Given the description of an element on the screen output the (x, y) to click on. 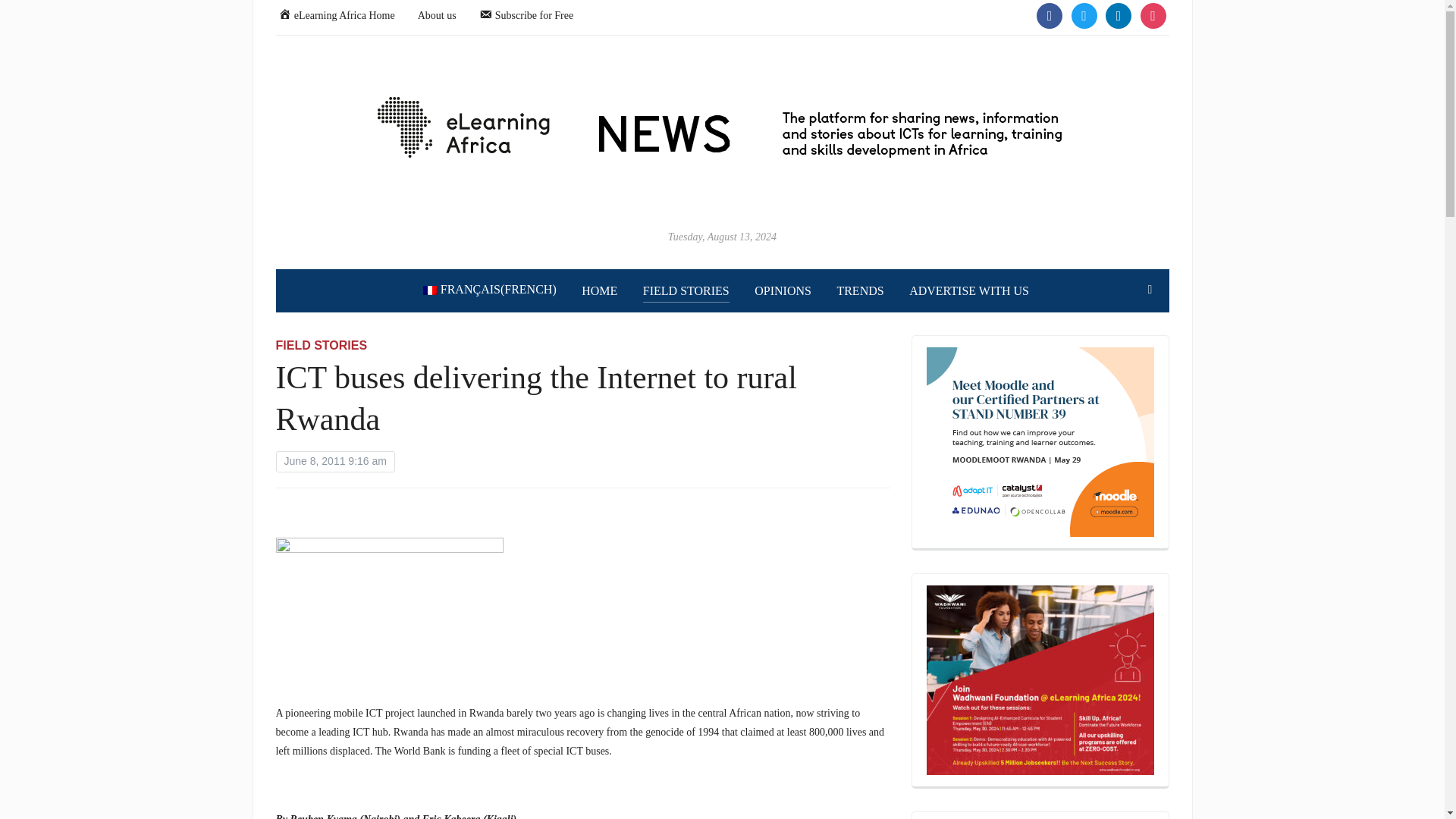
Subscribe for Free (526, 14)
facebook (1049, 14)
TRENDS (859, 291)
eLearning Africa Home (336, 14)
Twitter (1083, 14)
Facebook (1049, 14)
ADVERTISE WITH US (968, 291)
Instagram (1118, 14)
FIELD STORIES (686, 291)
OPINIONS (782, 291)
